Given the description of an element on the screen output the (x, y) to click on. 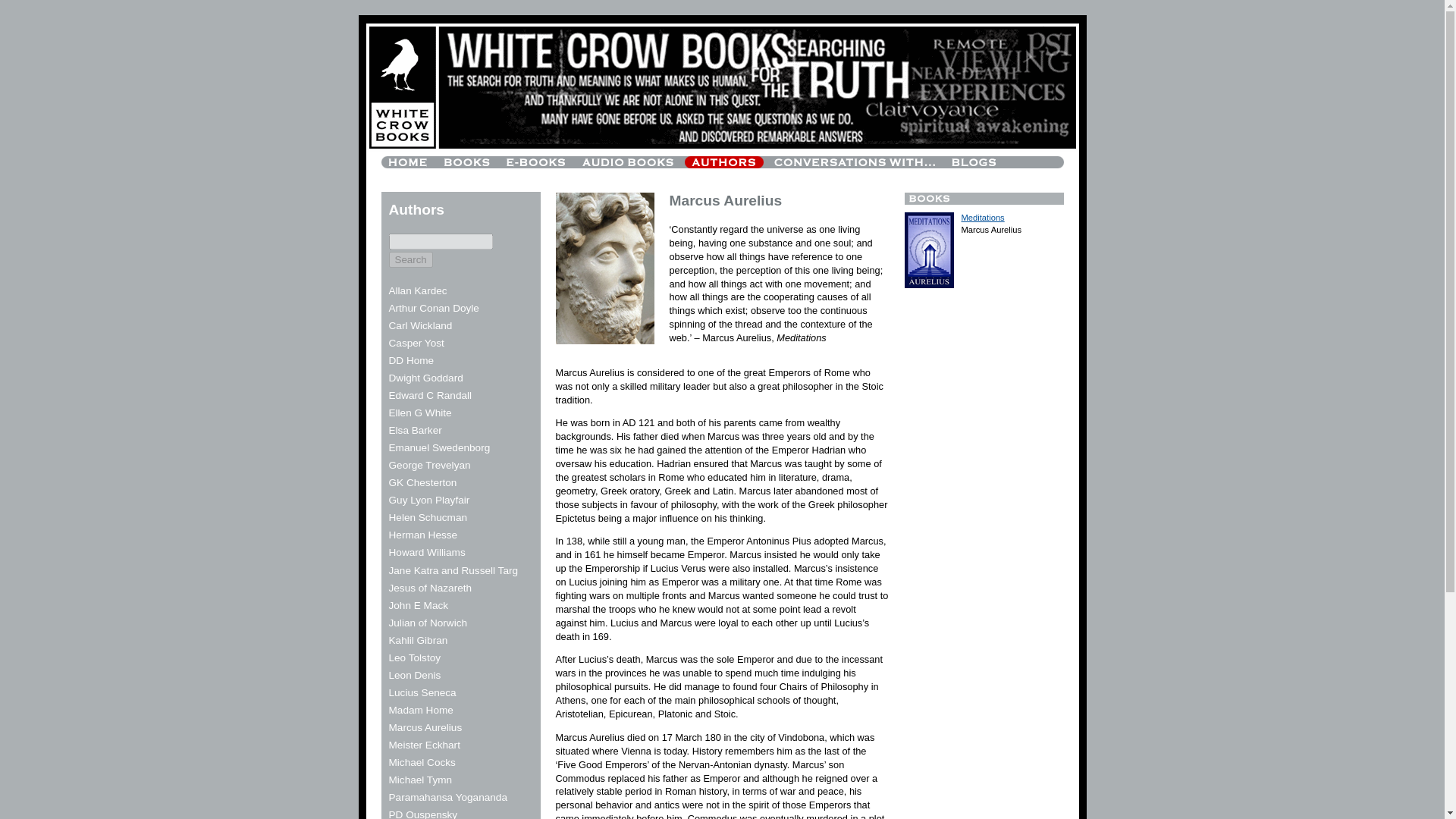
Marcus Aurelius (424, 727)
Authors (416, 210)
Howard Williams (426, 552)
Herman Hesse (422, 534)
Casper Yost (416, 342)
Search (410, 259)
Guy Lyon Playfair (428, 500)
Paramahansa Yogananda (447, 797)
GK Chesterton (422, 482)
John E Mack (418, 604)
Helen Schucman (427, 517)
Jesus of Nazareth (429, 587)
Julian of Norwich (427, 622)
DD Home (410, 360)
Lucius Seneca (421, 692)
